Given the description of an element on the screen output the (x, y) to click on. 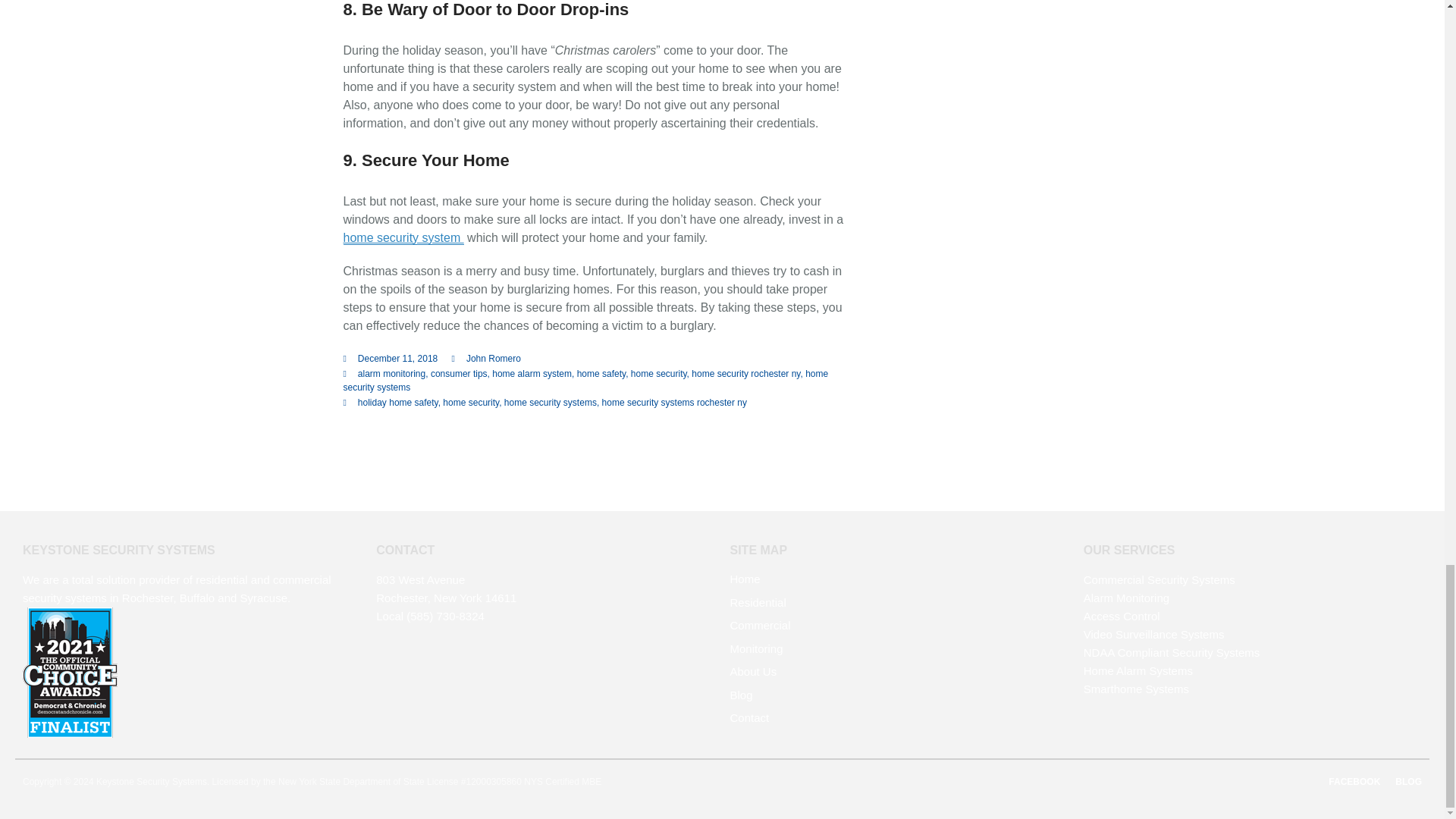
home security system  (402, 237)
View all posts in home alarm system (532, 373)
John Romero (493, 357)
View all posts tagged home security systems rochester ny (674, 402)
View all posts tagged home security (470, 402)
View all posts in consumer tips (458, 373)
View all posts tagged holiday home safety (398, 402)
View all posts by John Romero (493, 357)
View all posts in home safety (601, 373)
View all posts in home security (658, 373)
View all posts in home security systems (585, 380)
View all posts tagged home security systems (549, 402)
alarm monitoring (391, 373)
View all posts in alarm monitoring (391, 373)
View all posts in home security rochester ny (745, 373)
